Given the description of an element on the screen output the (x, y) to click on. 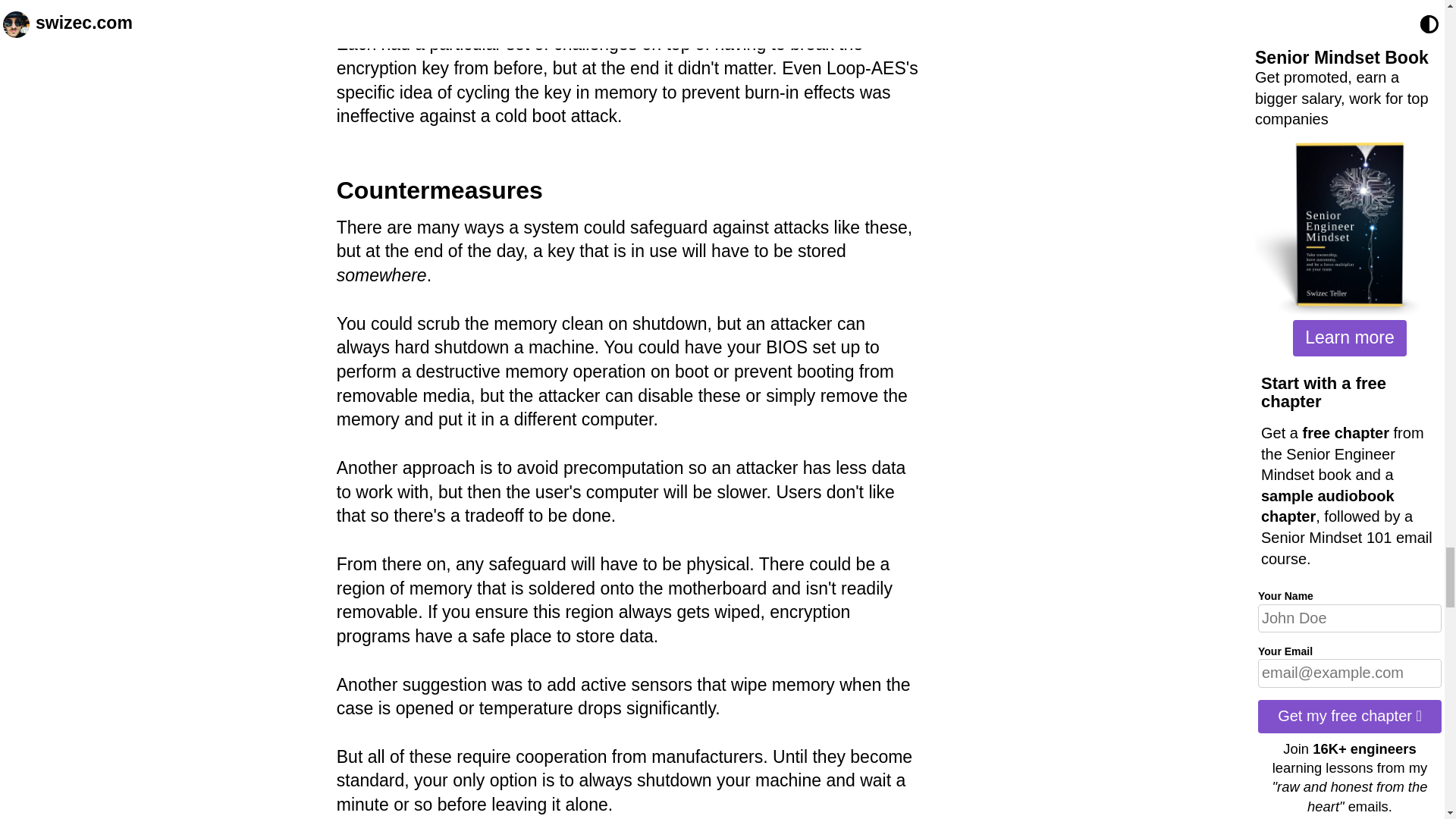
Countermeasures (439, 189)
